Given the description of an element on the screen output the (x, y) to click on. 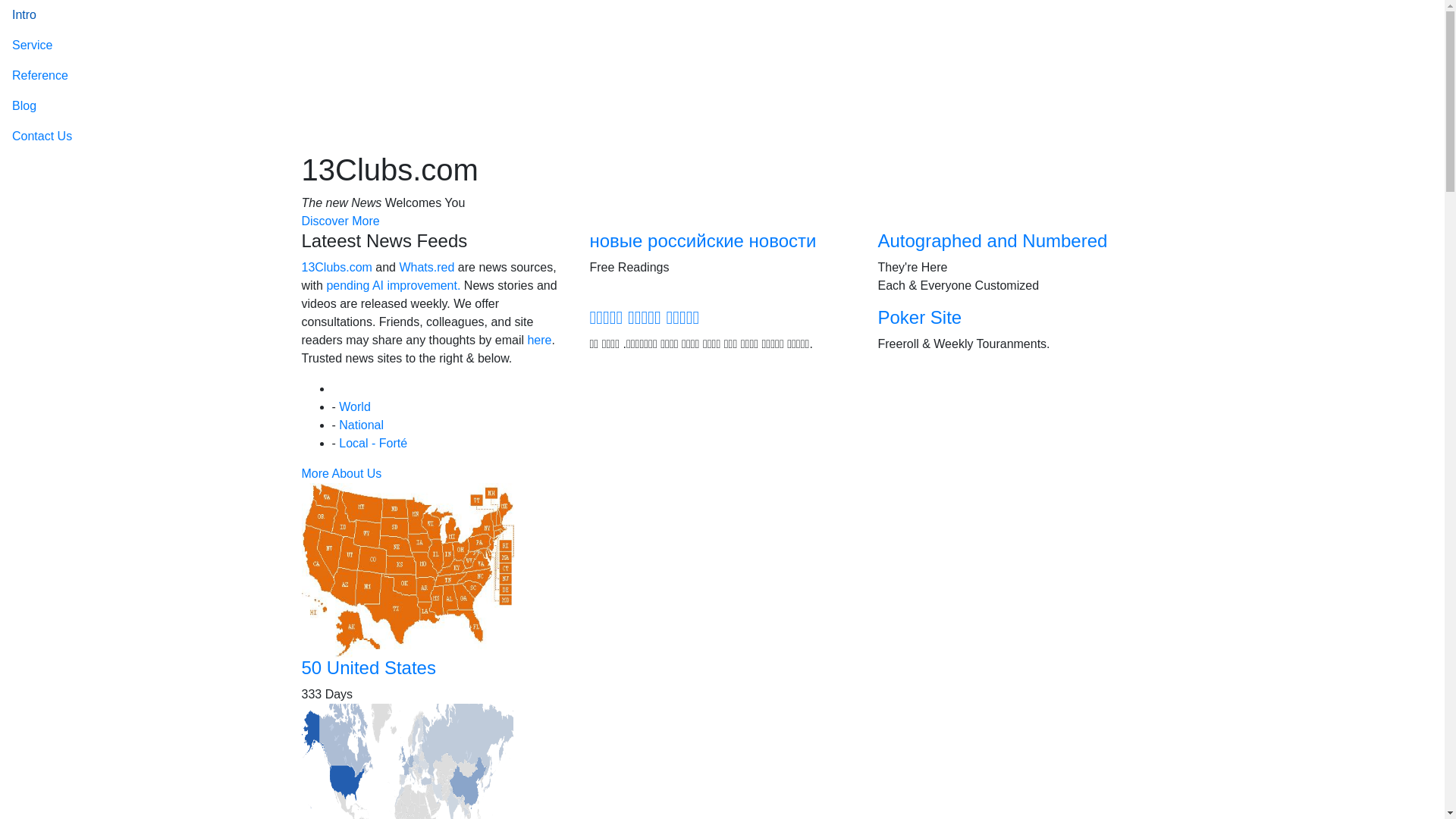
National Element type: text (360, 424)
50 United States Element type: text (368, 667)
Reference Element type: text (722, 75)
More About Us Element type: text (341, 473)
here Element type: text (539, 339)
Contact Us Element type: text (722, 136)
Poker Site Element type: text (920, 317)
Discover More Element type: text (340, 220)
World Element type: text (354, 406)
Service Element type: text (722, 45)
Autographed and Numbered Element type: text (992, 240)
pending AI improvement. Element type: text (393, 285)
Whats.red Element type: text (426, 266)
Intro Element type: text (722, 15)
Blog Element type: text (722, 106)
13Clubs.com Element type: text (336, 266)
